Given the description of an element on the screen output the (x, y) to click on. 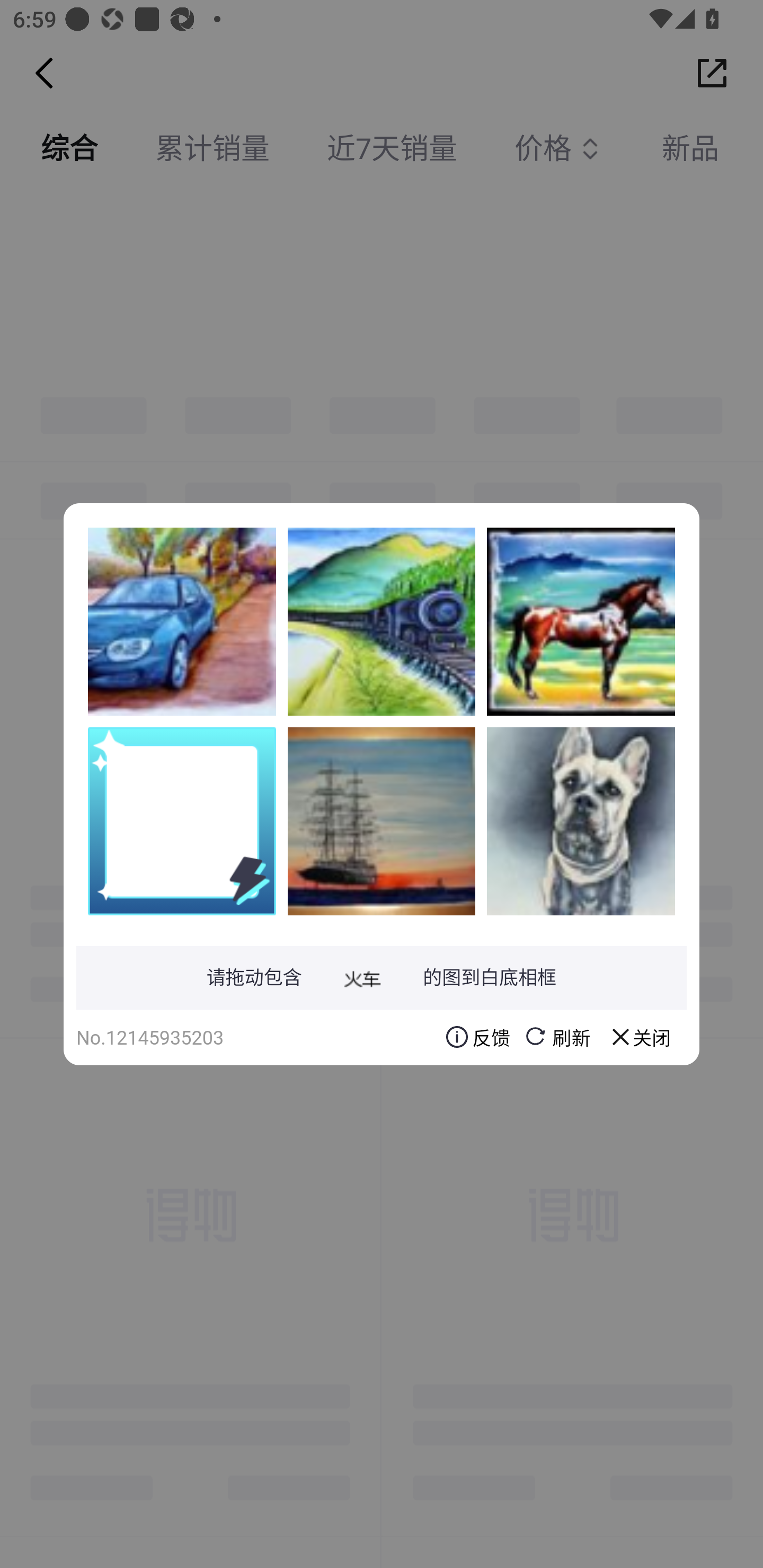
RtvaBl5qwwz9pmeKxpzD (580, 820)
